Given the description of an element on the screen output the (x, y) to click on. 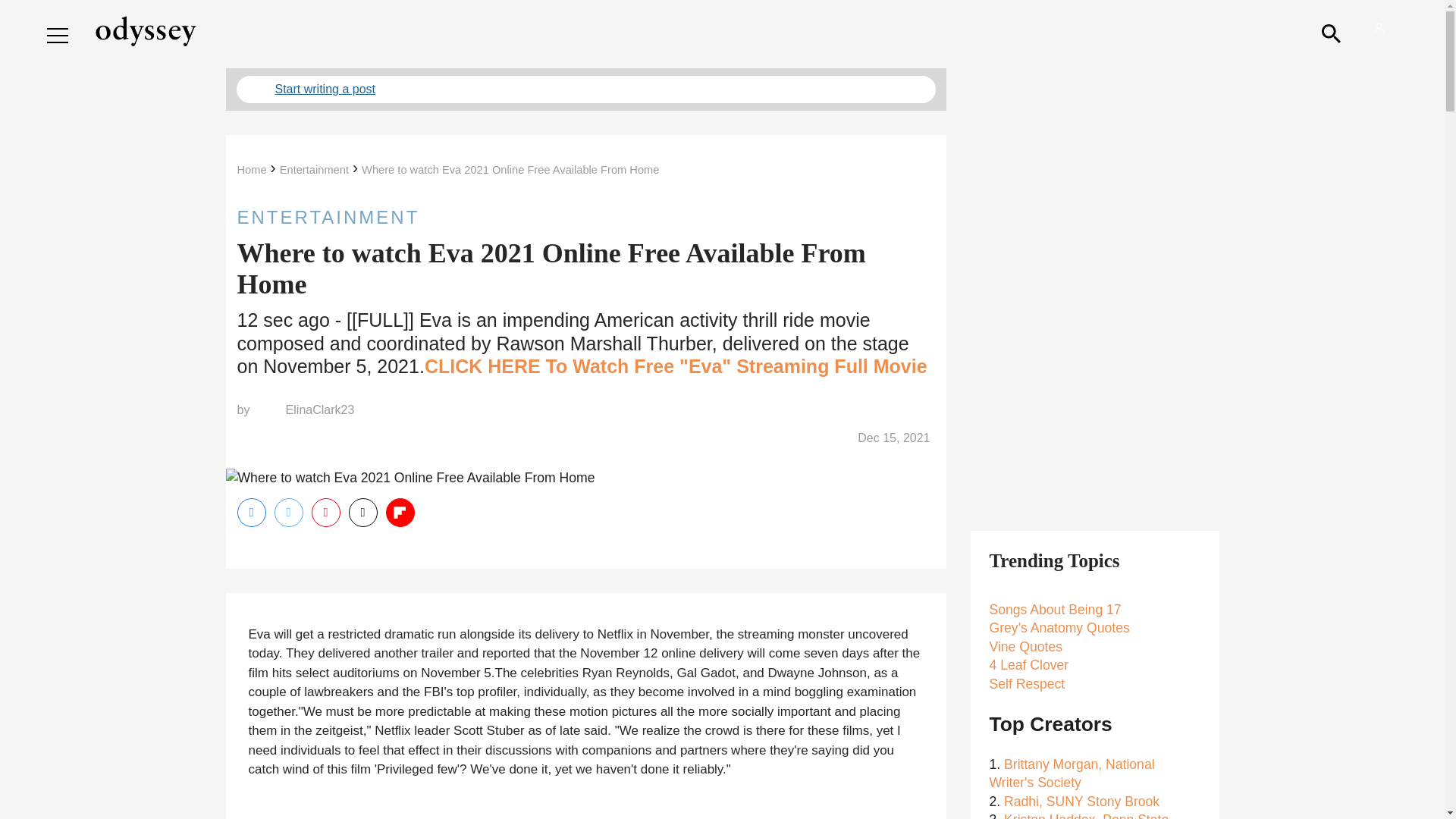
Start writing a post (585, 89)
ENTERTAINMENT (584, 217)
CLICK HERE To Watch Free "Eva" Streaming Full Movie (676, 365)
Where to watch Eva 2021 Online Free Available From Home (510, 169)
Entertainment (314, 169)
Home (250, 169)
